Given the description of an element on the screen output the (x, y) to click on. 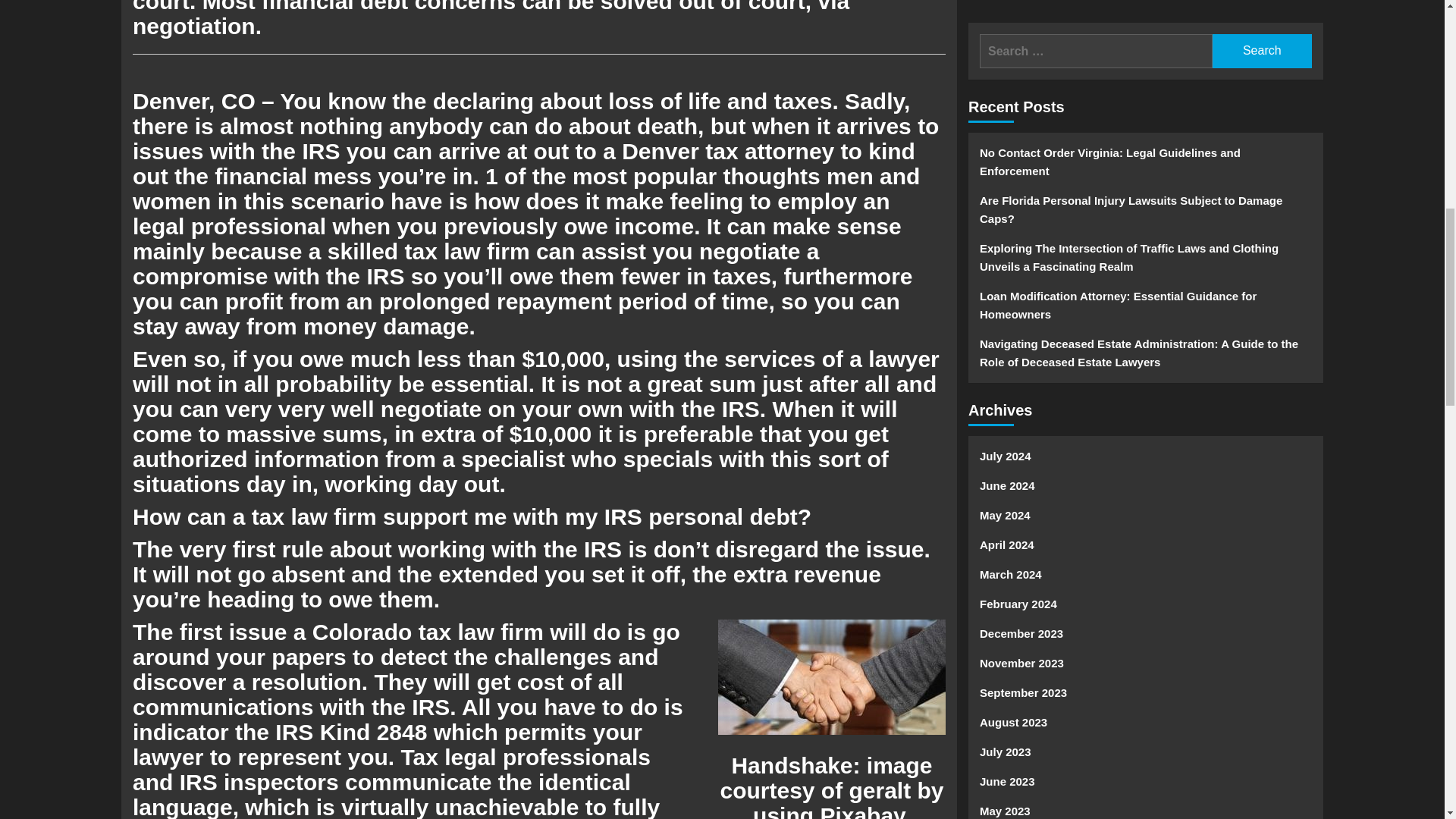
Colorado tax law firm (431, 631)
When Should You Hire a Tax Lawyer? (830, 676)
Denver tax attorney (727, 150)
tax law firm (466, 251)
